Given the description of an element on the screen output the (x, y) to click on. 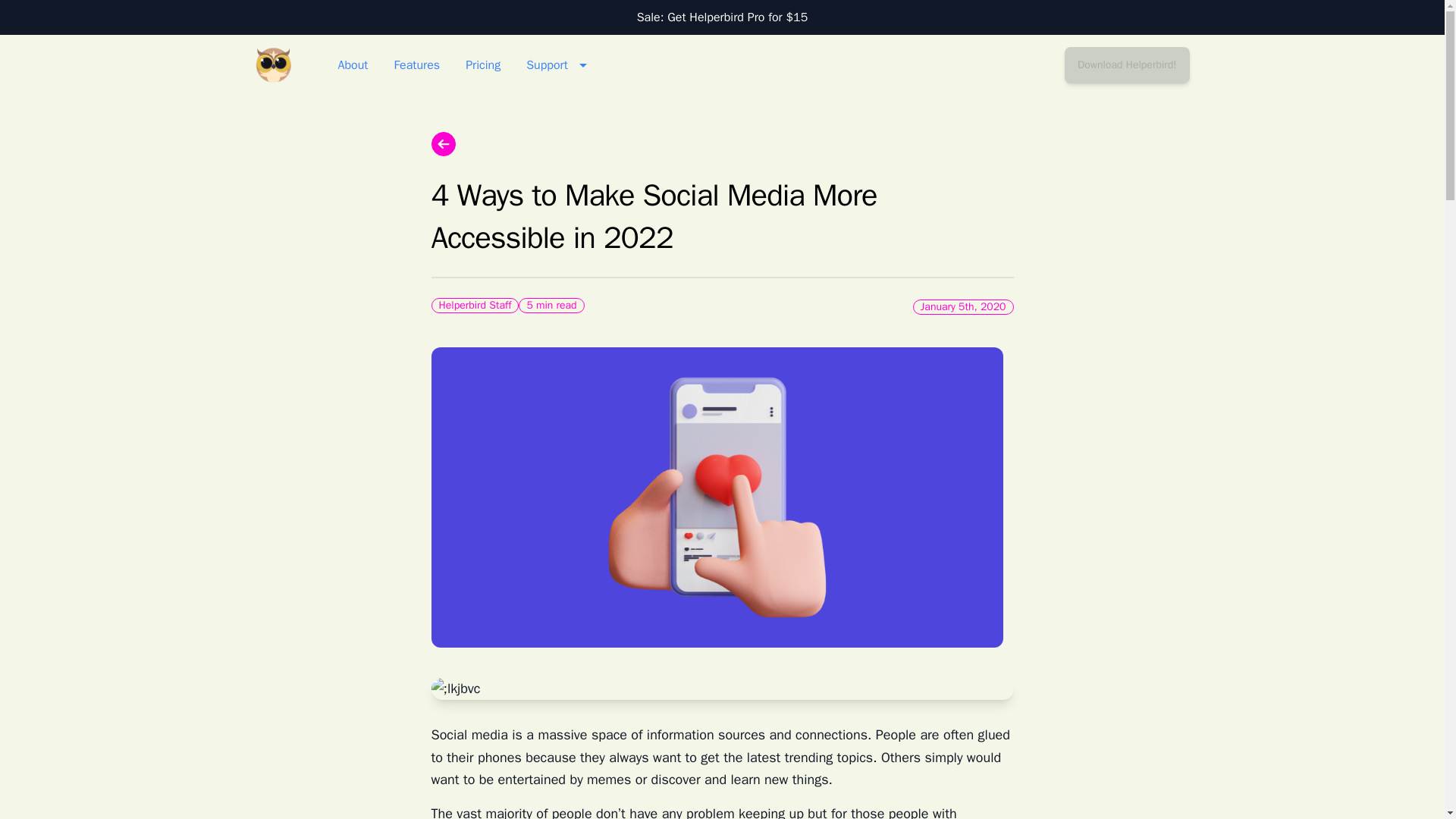
Discover Helperbird features. (416, 64)
About (352, 64)
Check Helperbird's pricing page (722, 17)
Visit Helperbird Homepage (272, 64)
Helperbird's support page. (559, 64)
Features (416, 64)
Helperbird pricing. (482, 64)
Learn about Helperbird's history and mission. (352, 64)
Support (1126, 64)
Helperbird (559, 64)
Pricing (272, 64)
mnbvcx (482, 64)
